Given the description of an element on the screen output the (x, y) to click on. 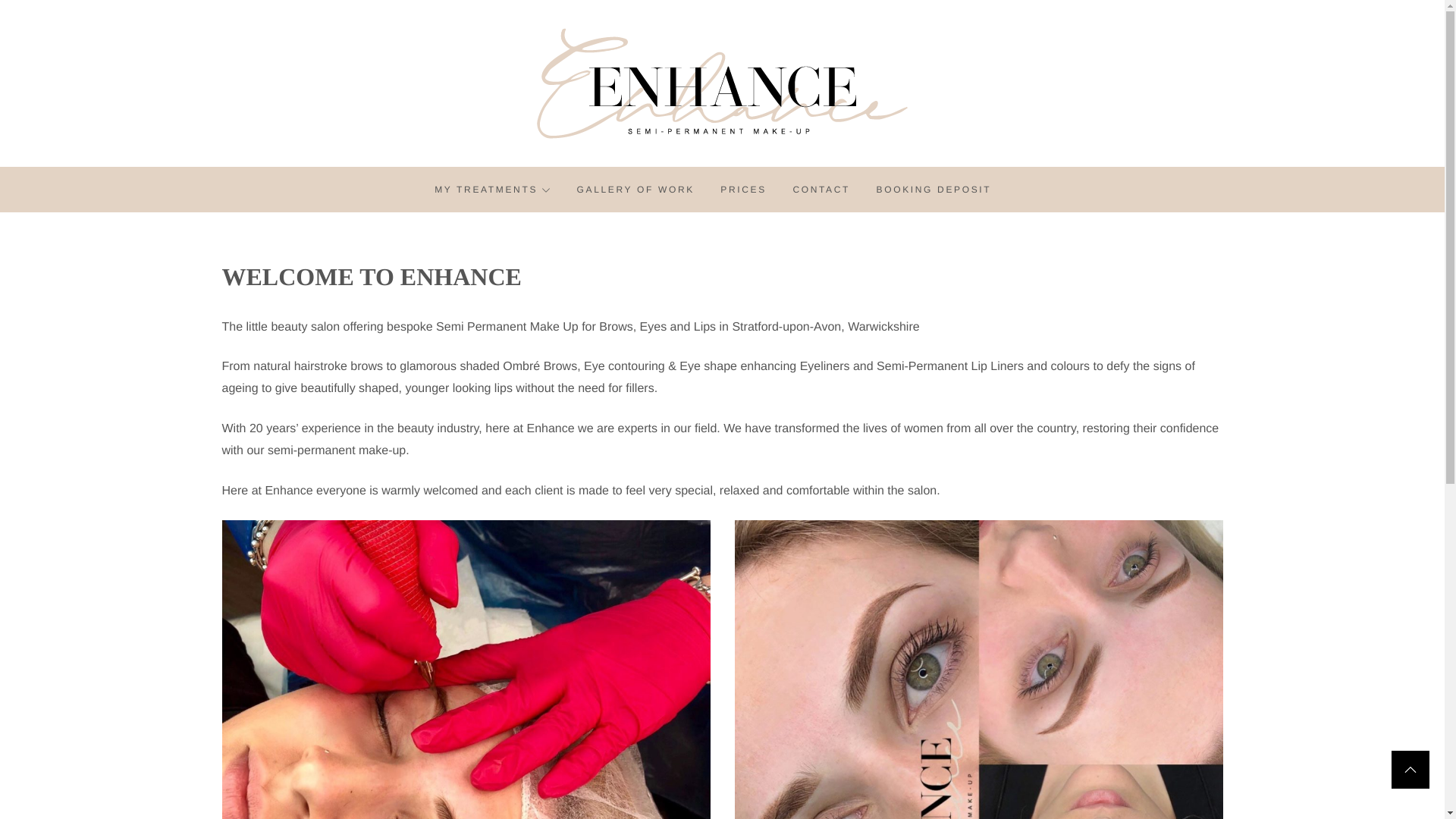
MY TREATMENTS (491, 189)
CONTACT (821, 189)
GALLERY OF WORK (635, 189)
PRICES (743, 189)
BOOKING DEPOSIT (933, 189)
